Given the description of an element on the screen output the (x, y) to click on. 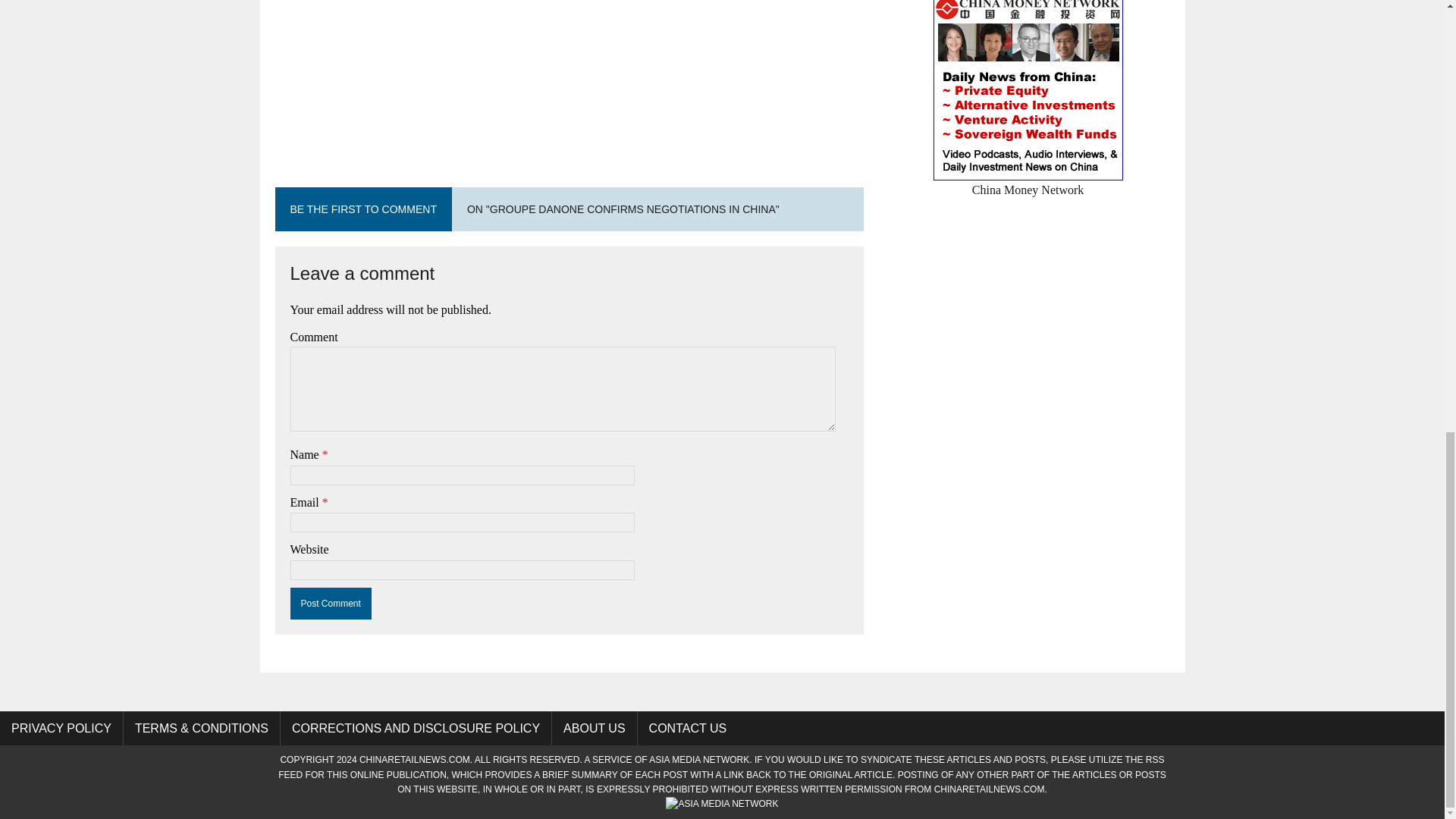
Asia Media Network (699, 759)
Post Comment (330, 603)
Advertisement (569, 74)
China Money Network (1027, 179)
Post Comment (330, 603)
China Money Network - Finance and Investment News Daily (1027, 179)
Asia Media Network (721, 803)
